Given the description of an element on the screen output the (x, y) to click on. 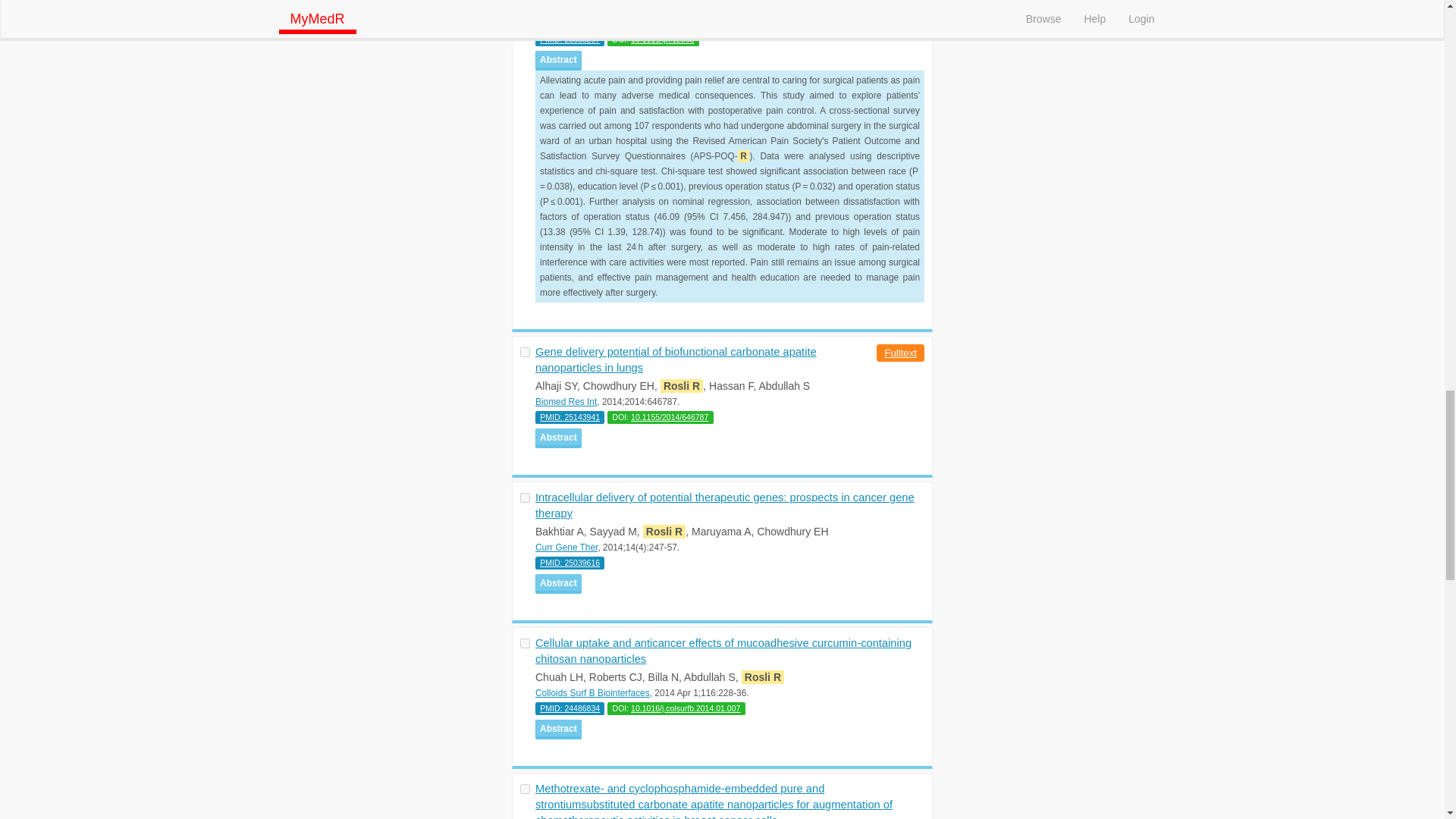
on (524, 643)
on (524, 497)
on (524, 352)
on (524, 788)
